Given the description of an element on the screen output the (x, y) to click on. 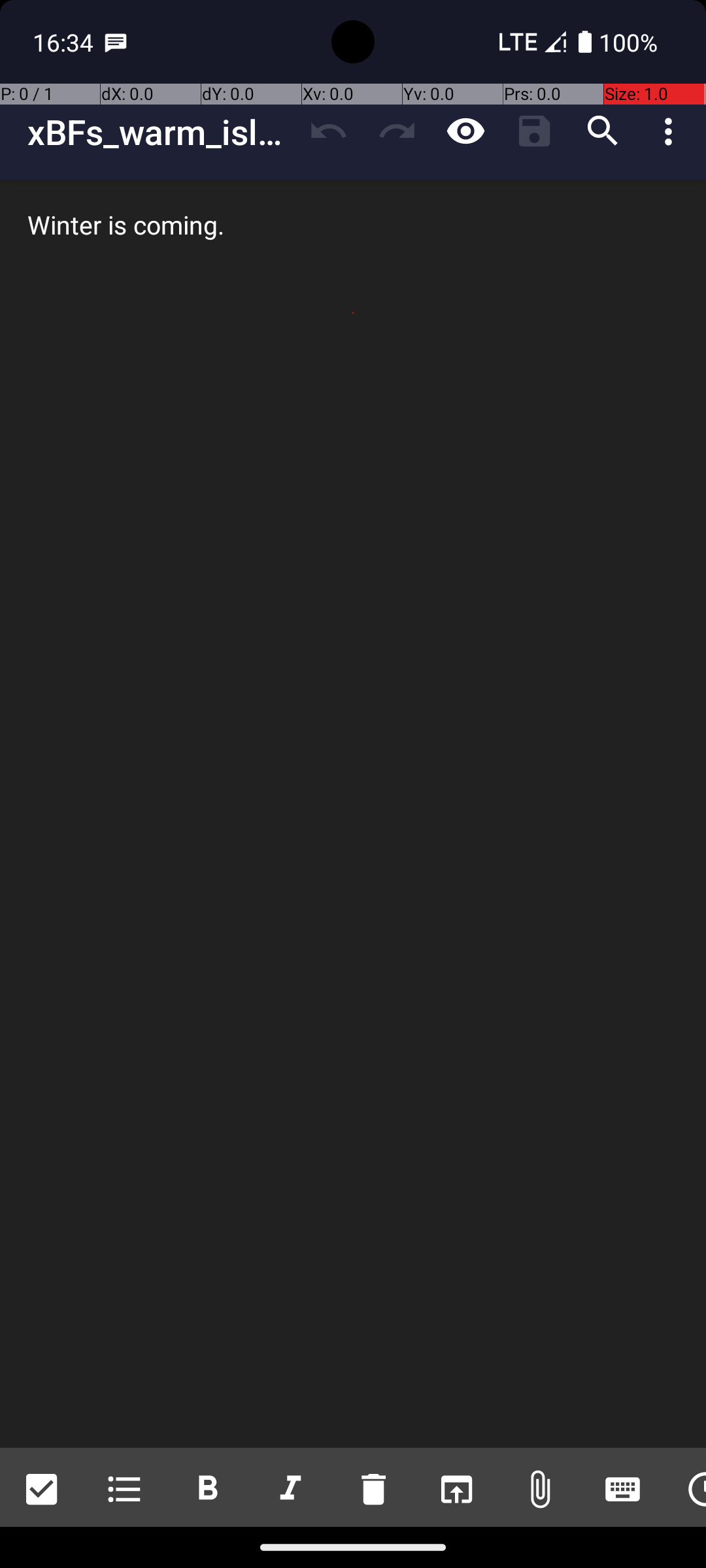
xBFs_warm_island Element type: android.widget.TextView (160, 131)
Winter is coming.
 Element type: android.widget.EditText (353, 813)
16:34 Element type: android.widget.TextView (64, 41)
